Given the description of an element on the screen output the (x, y) to click on. 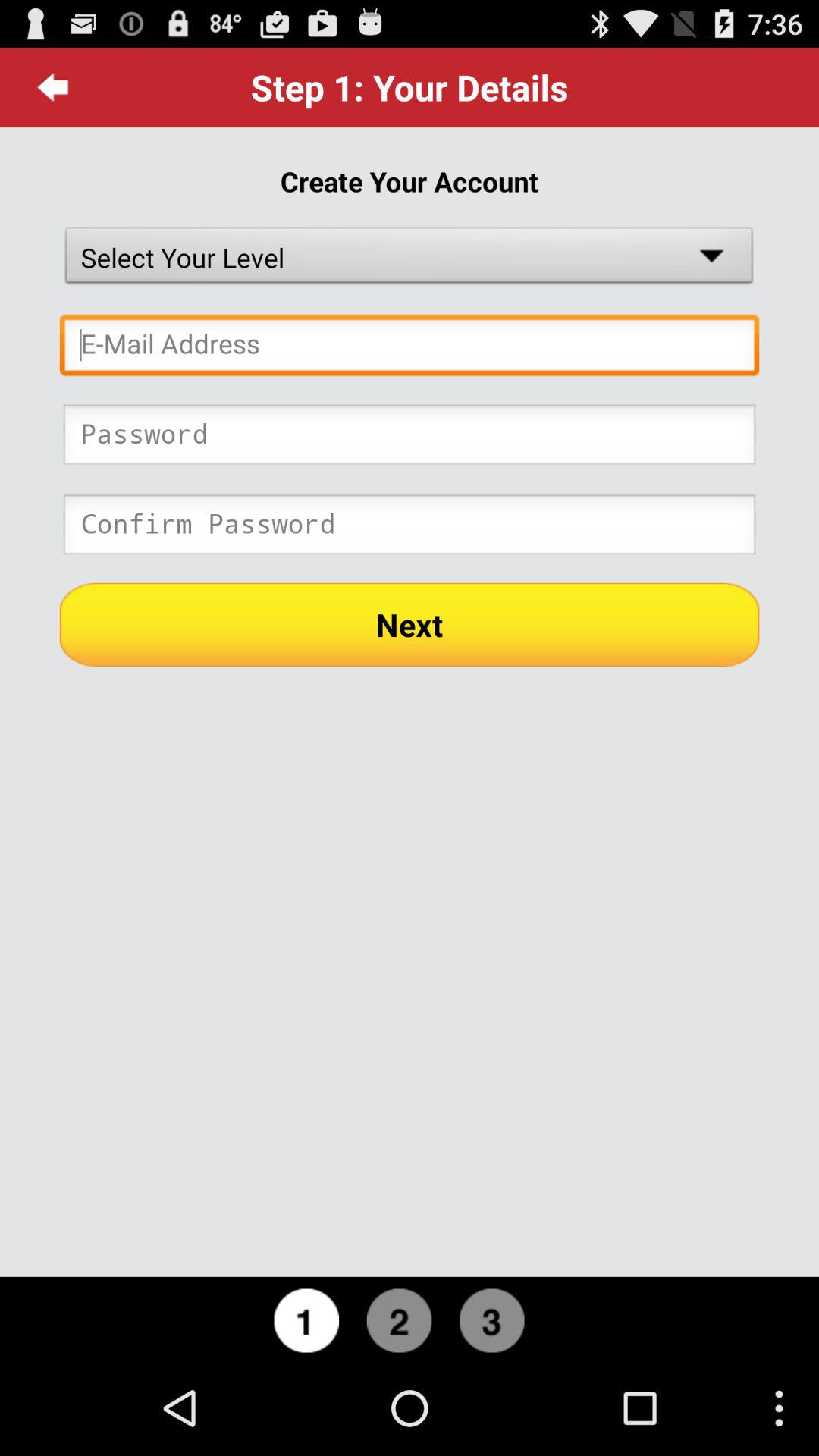
click the next icon (409, 624)
